Given the description of an element on the screen output the (x, y) to click on. 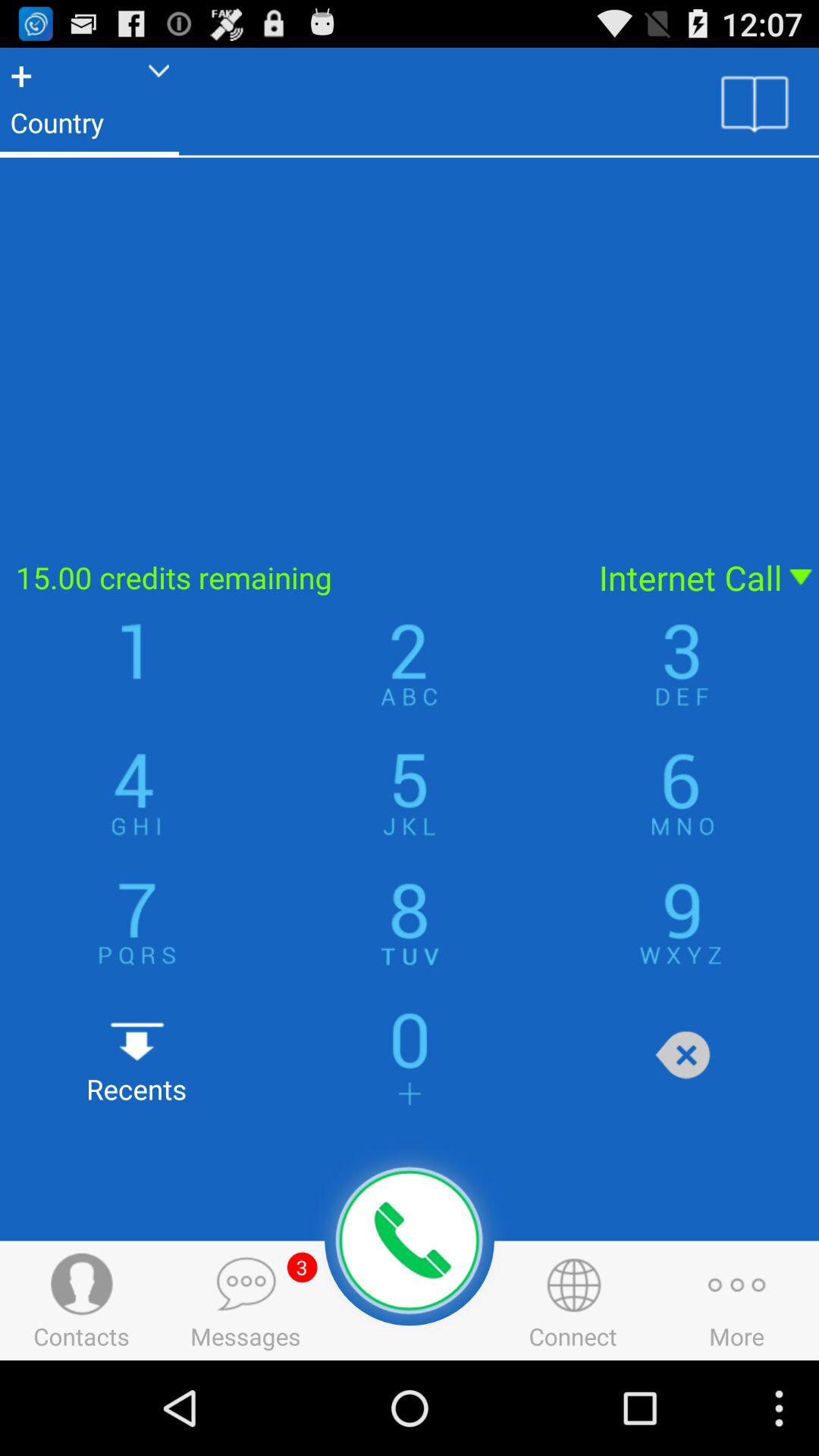
choose the 15 00 credits icon (290, 577)
